Given the description of an element on the screen output the (x, y) to click on. 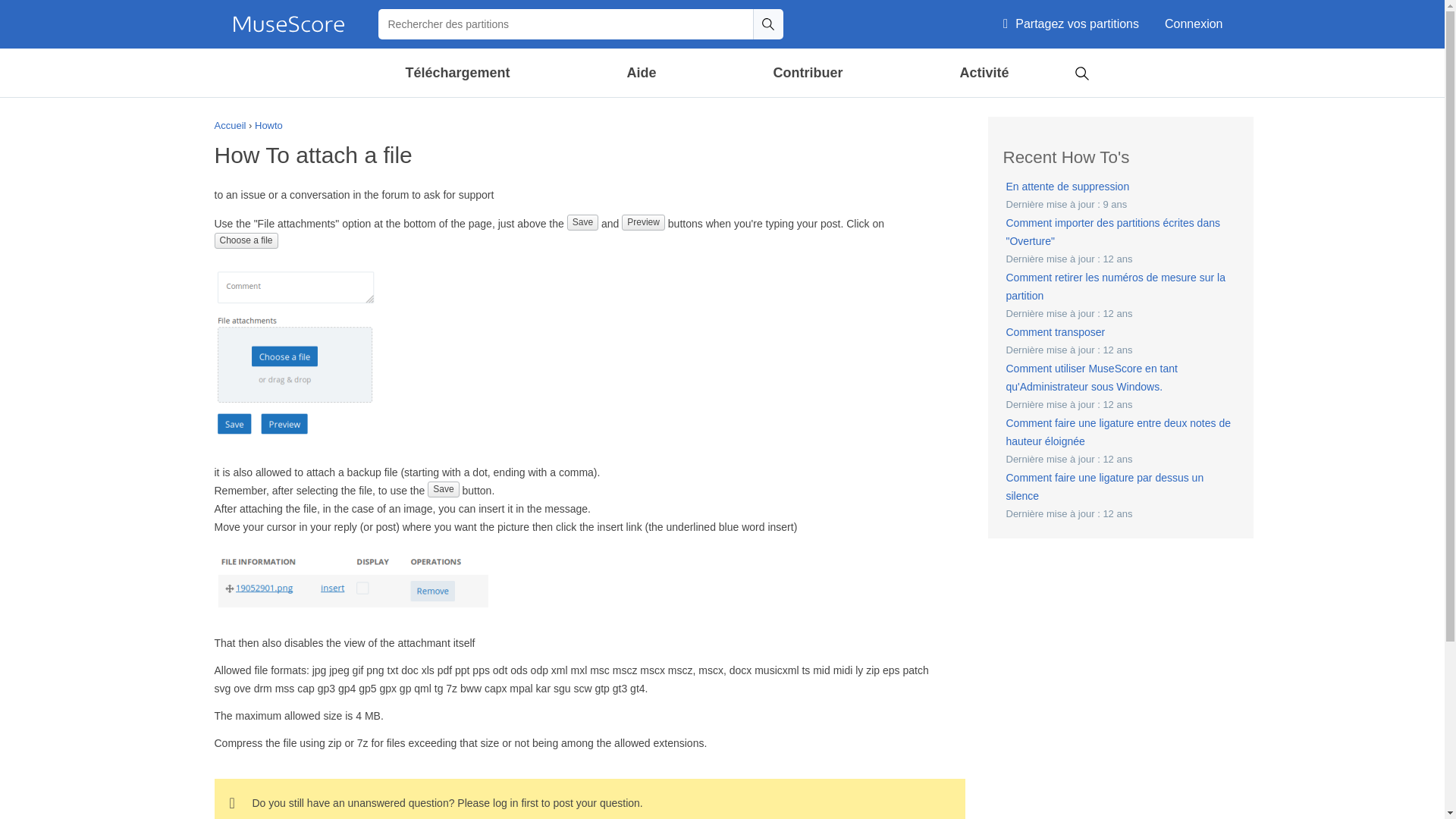
MuseScore (287, 23)
Recherche (767, 24)
Choose (294, 353)
Accueil (287, 23)
Connexion (1193, 24)
Insert (352, 581)
Recherche (767, 24)
Aide (641, 72)
Contribuer (807, 72)
